Given the description of an element on the screen output the (x, y) to click on. 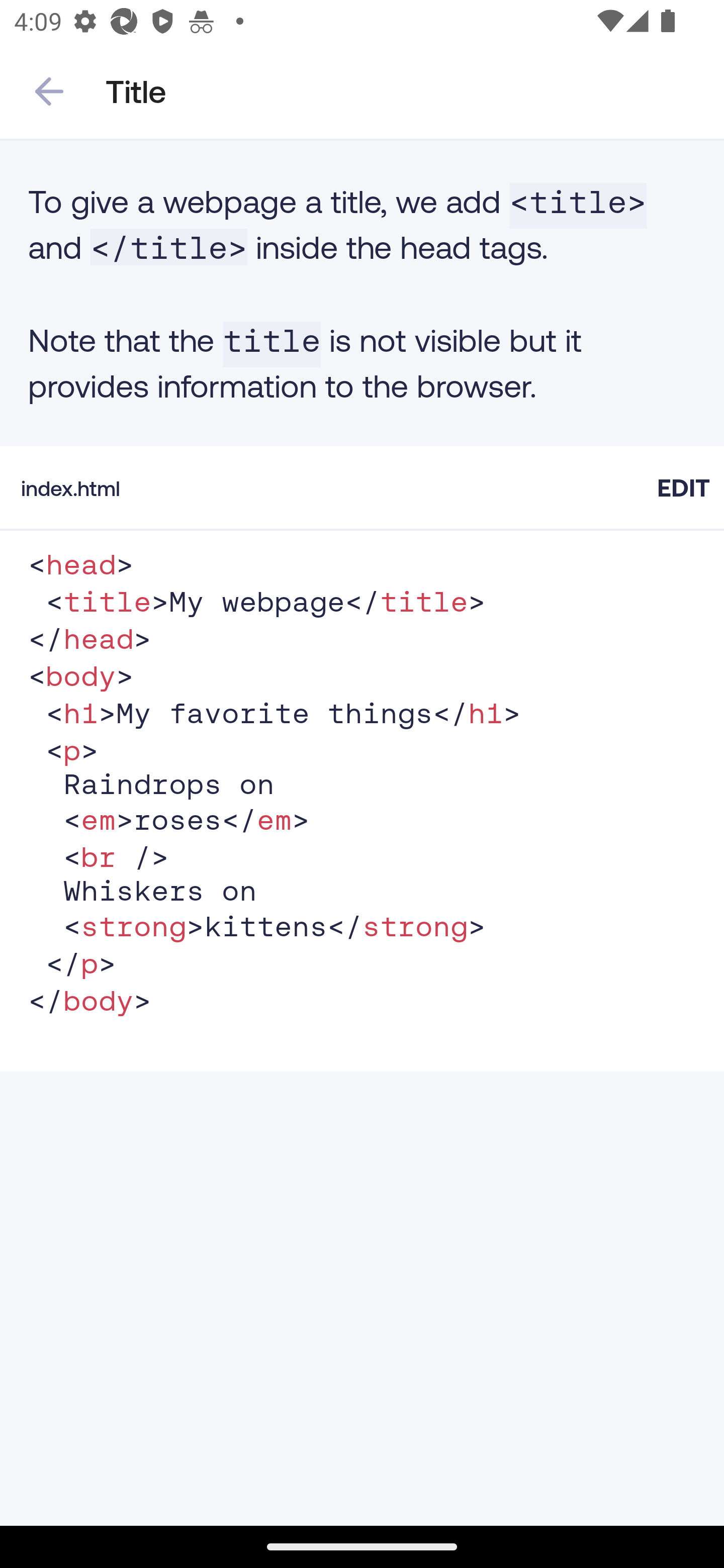
Navigate up (49, 91)
EDIT (683, 487)
